Given the description of an element on the screen output the (x, y) to click on. 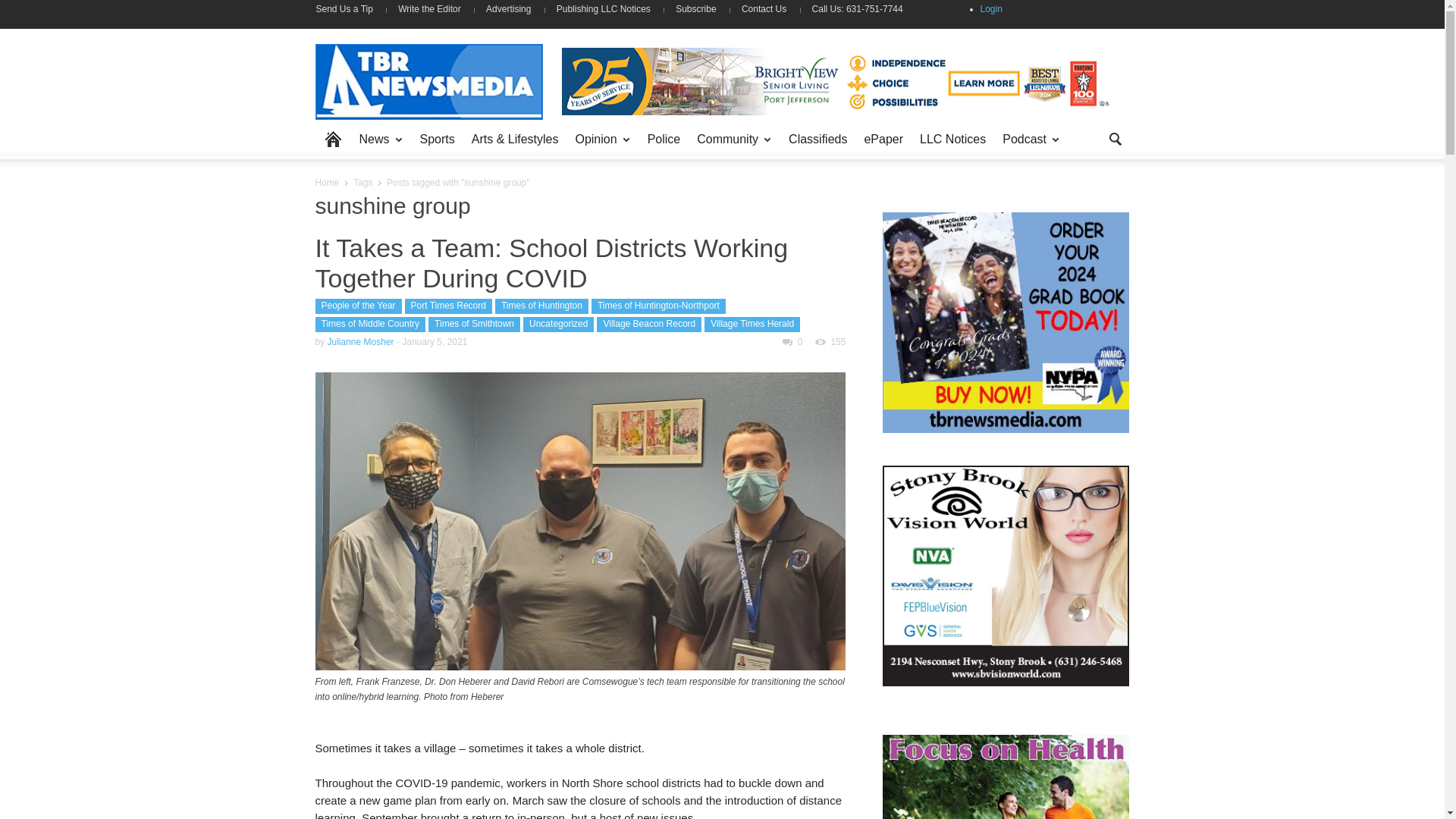
Contact Us (763, 9)
Send Us a Tip (349, 9)
BrightView (836, 80)
Write the Editor (429, 9)
Stony Brook Vision World (1005, 576)
Advertising (507, 9)
